Given the description of an element on the screen output the (x, y) to click on. 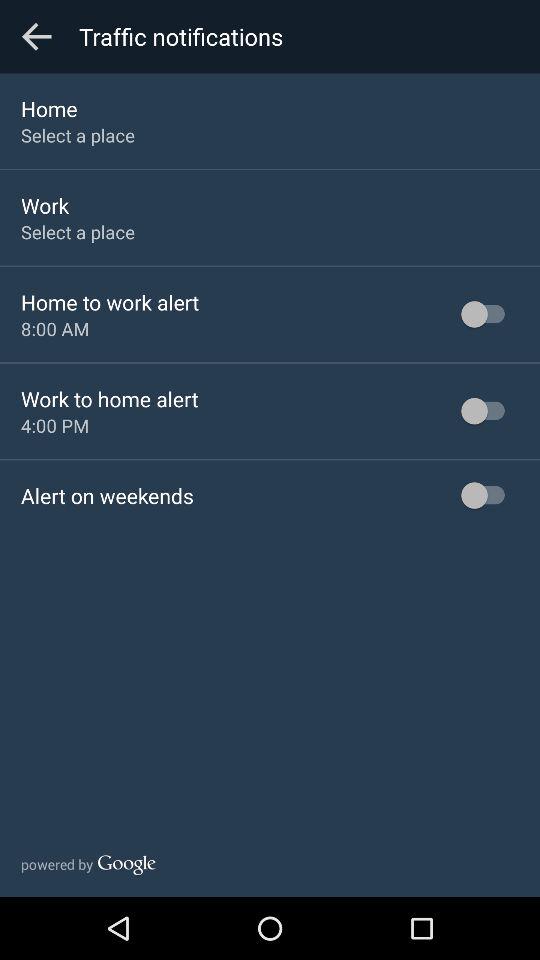
click alert on weekends app (107, 495)
